Given the description of an element on the screen output the (x, y) to click on. 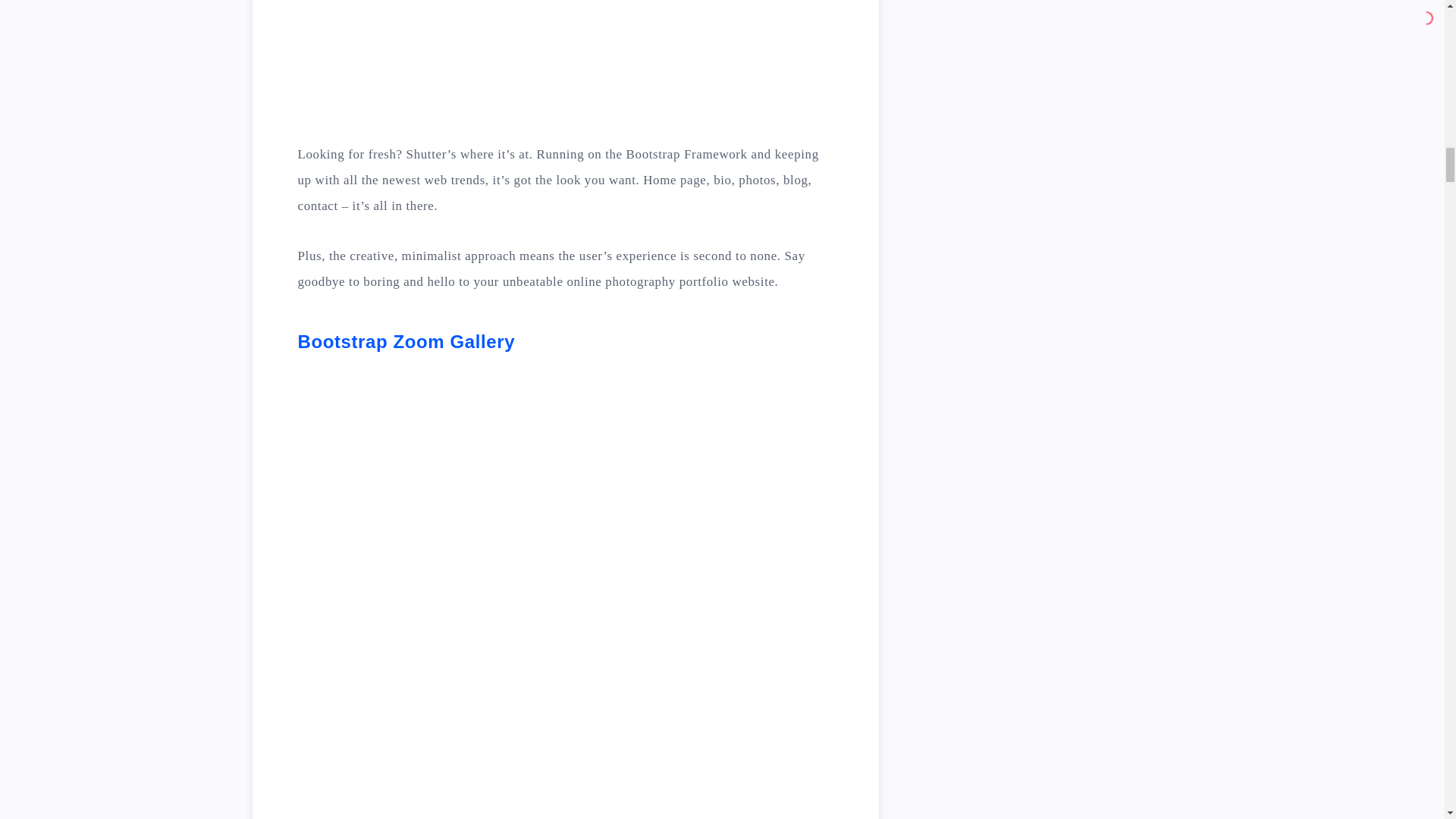
Bootstrap Zoom Gallery (406, 341)
